Given the description of an element on the screen output the (x, y) to click on. 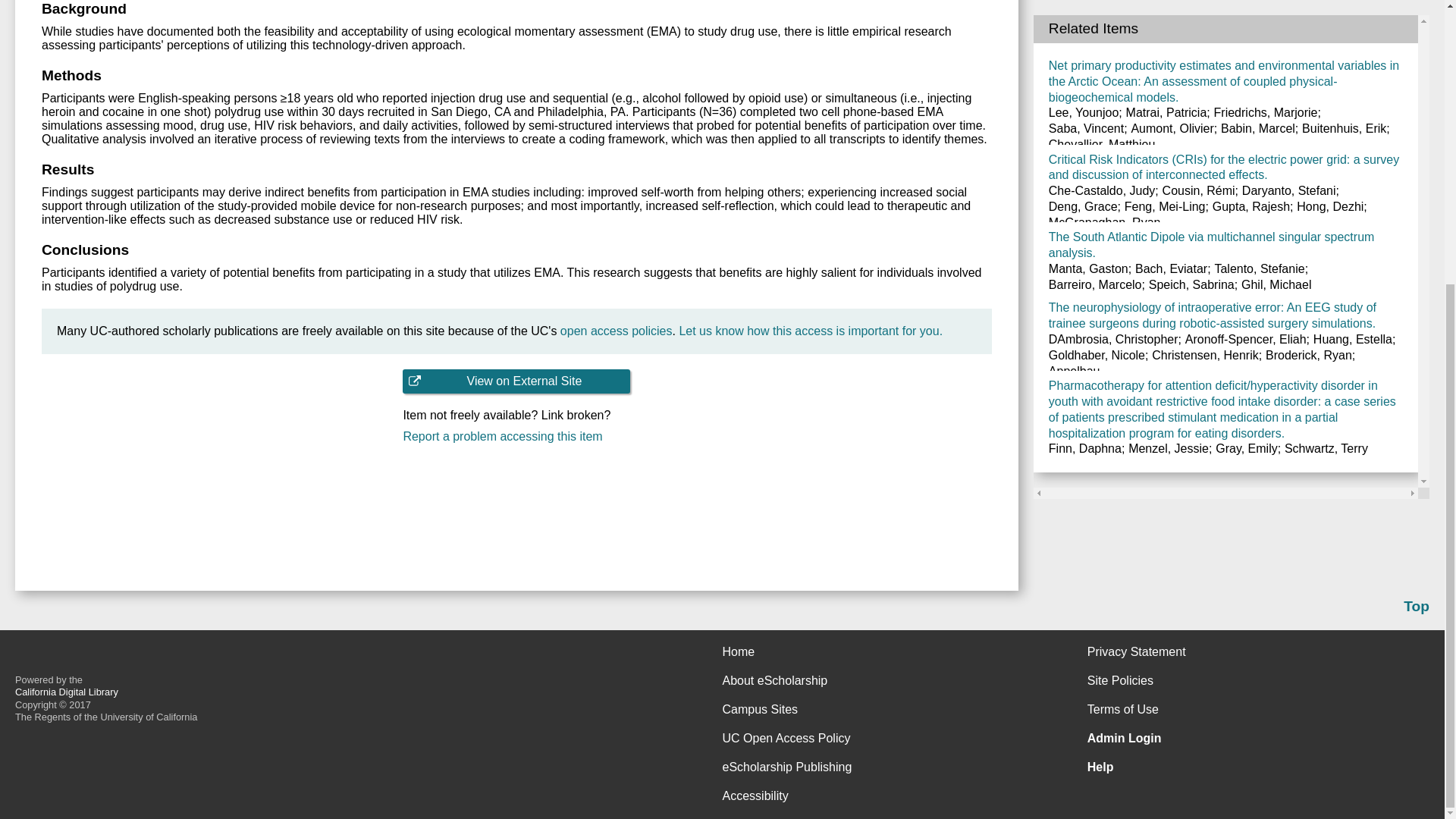
Report a problem accessing this item (516, 436)
Let us know how this access is important for you. (810, 330)
open access policies (616, 330)
View on External Site (516, 381)
